Given the description of an element on the screen output the (x, y) to click on. 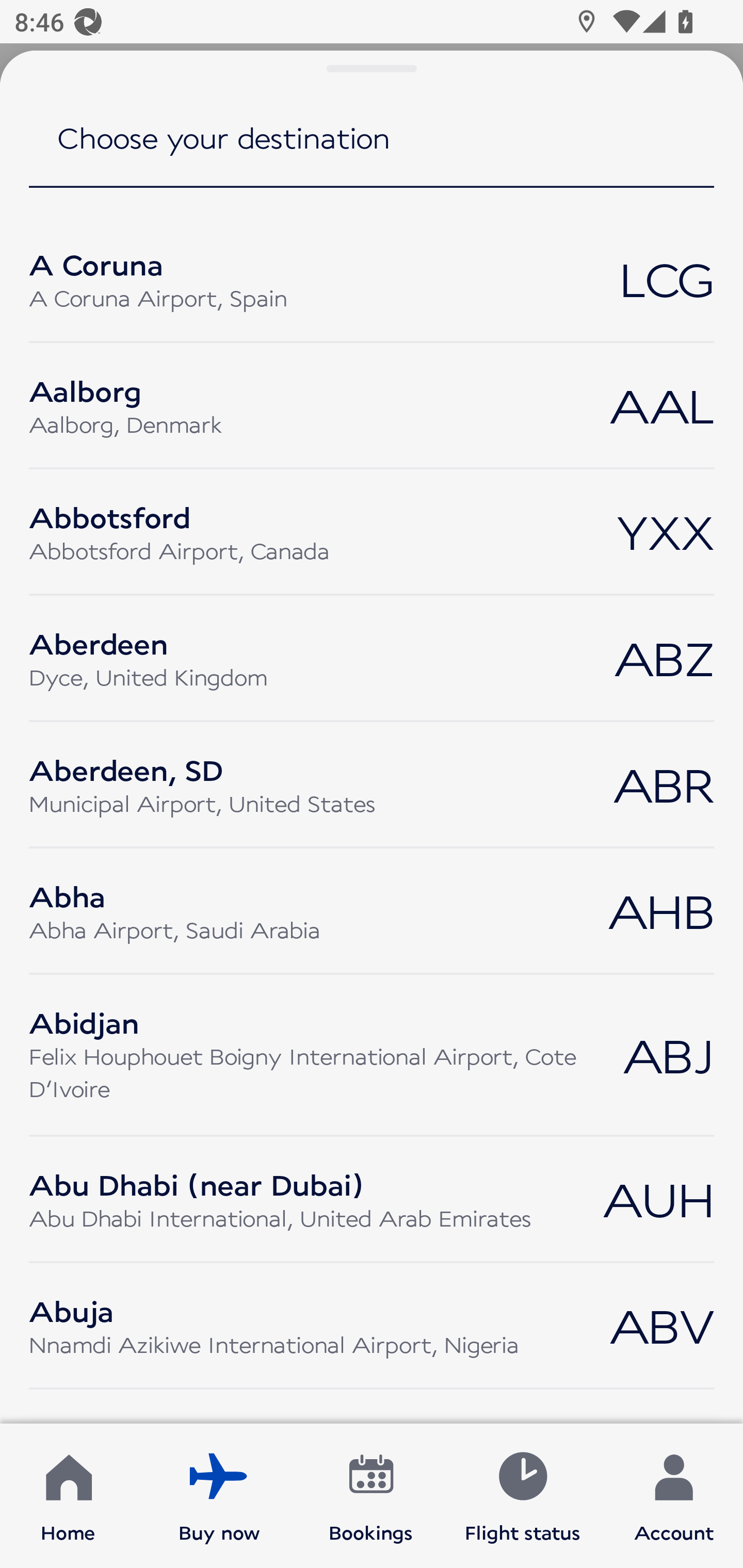
Choose your destination (371, 151)
A Coruna A Coruna Airport, Spain LCG (371, 279)
Aalborg Aalborg, Denmark AAL (371, 405)
Abbotsford Abbotsford Airport, Canada YXX (371, 532)
Aberdeen Dyce, United Kingdom ABZ (371, 657)
Aberdeen, SD Municipal Airport, United States ABR (371, 784)
Abha Abha Airport, Saudi Arabia AHB (371, 910)
Home (68, 1495)
Bookings (370, 1495)
Flight status (522, 1495)
Account (674, 1495)
